Given the description of an element on the screen output the (x, y) to click on. 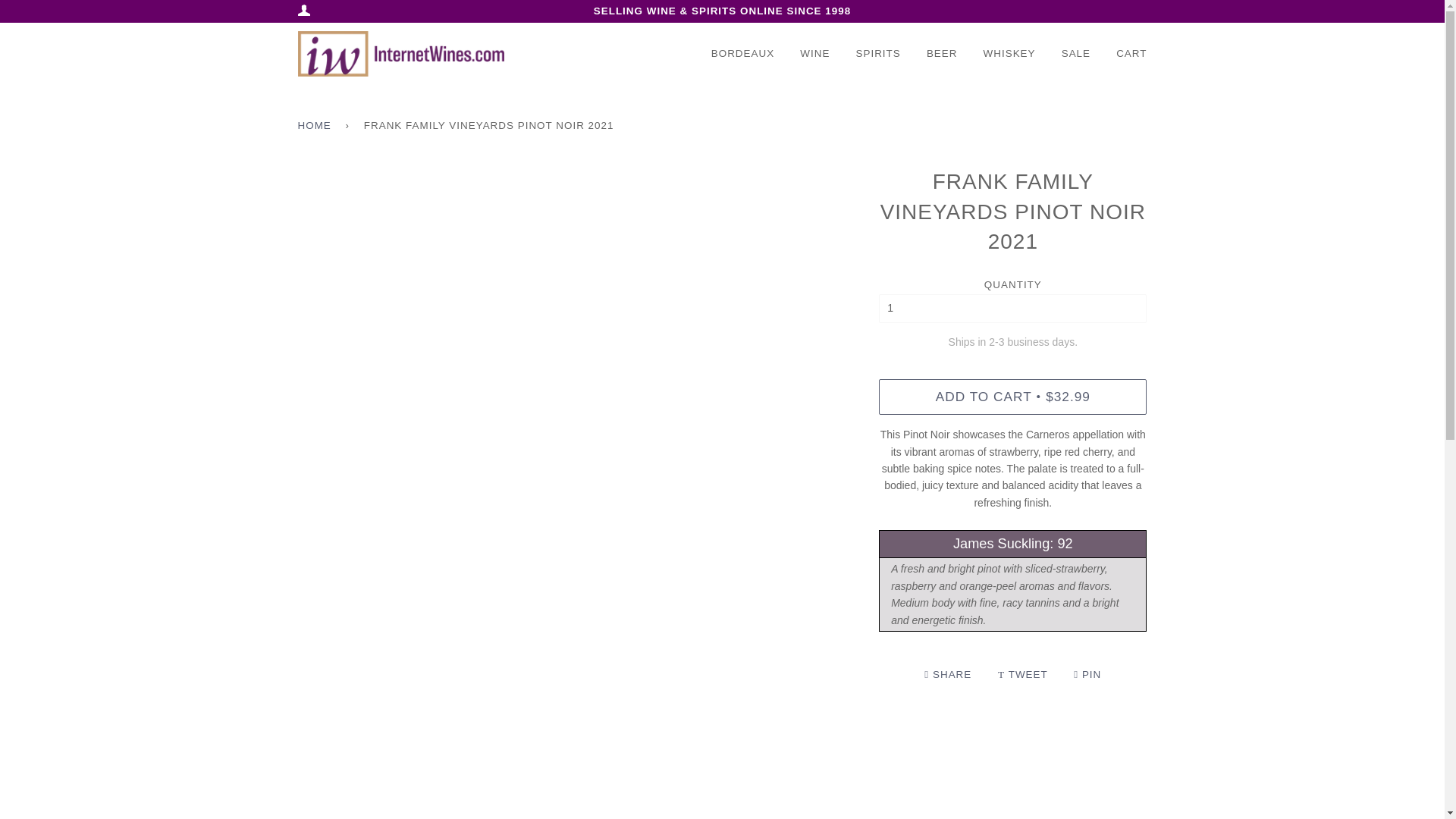
1 (1013, 308)
BORDEAUX (742, 53)
Back to the frontpage (316, 125)
